Given the description of an element on the screen output the (x, y) to click on. 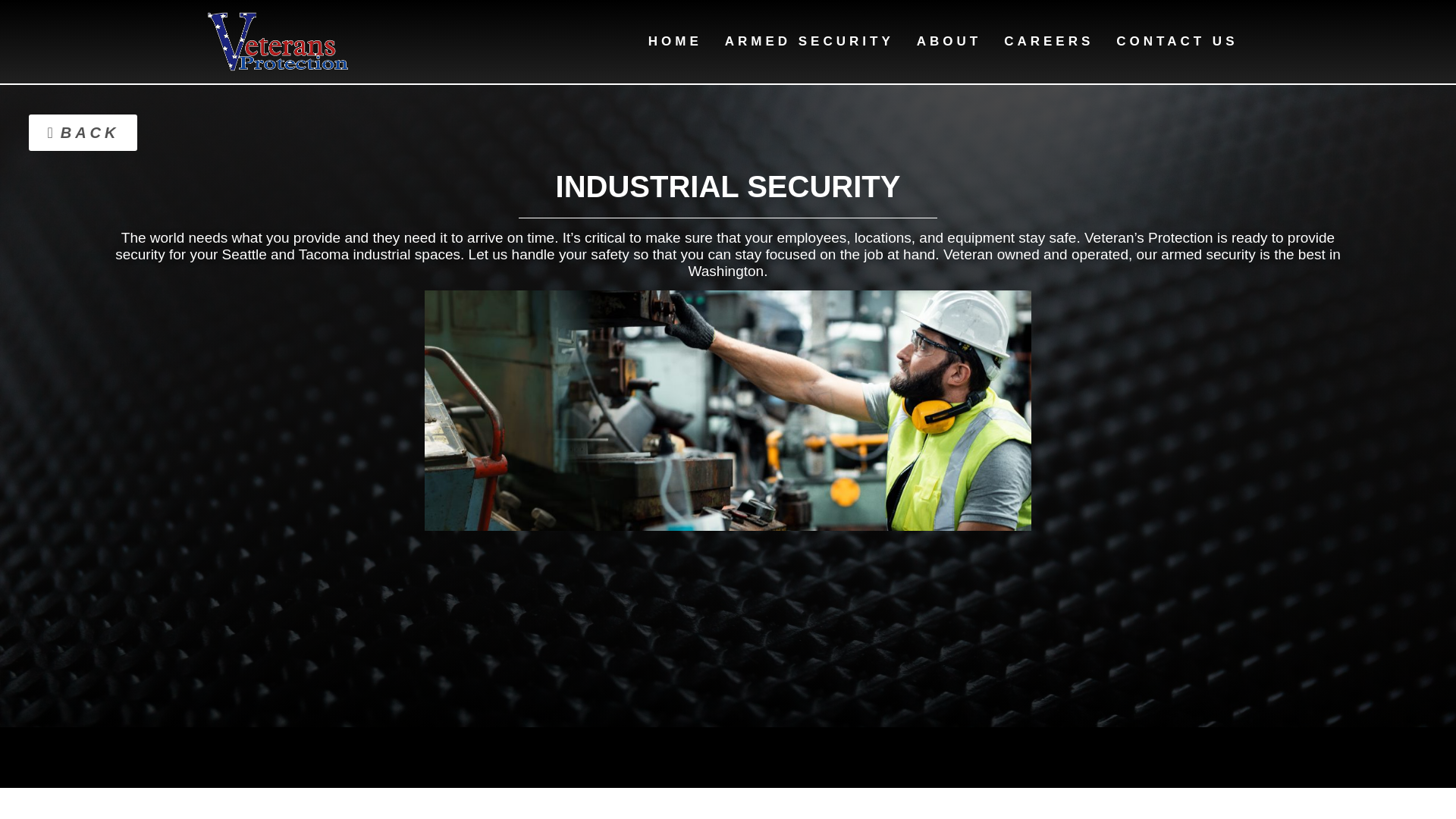
CONTACT US (1177, 41)
ARMED SECURITY (809, 41)
BACK (82, 132)
ABOUT (948, 41)
HOME (675, 41)
CAREERS (1048, 41)
